Given the description of an element on the screen output the (x, y) to click on. 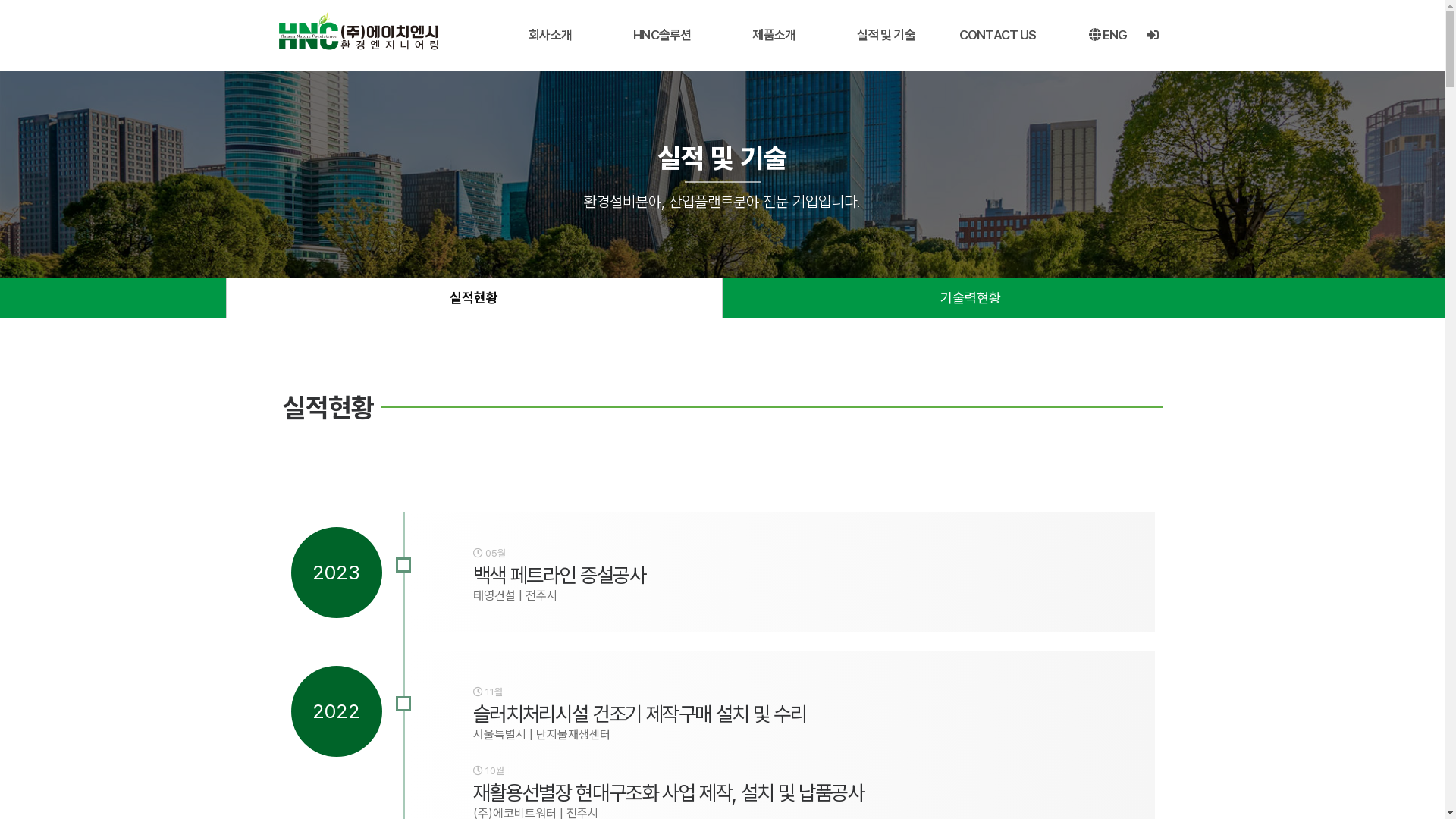
ENG Element type: text (1107, 35)
CONTACT US Element type: text (997, 35)
